Given the description of an element on the screen output the (x, y) to click on. 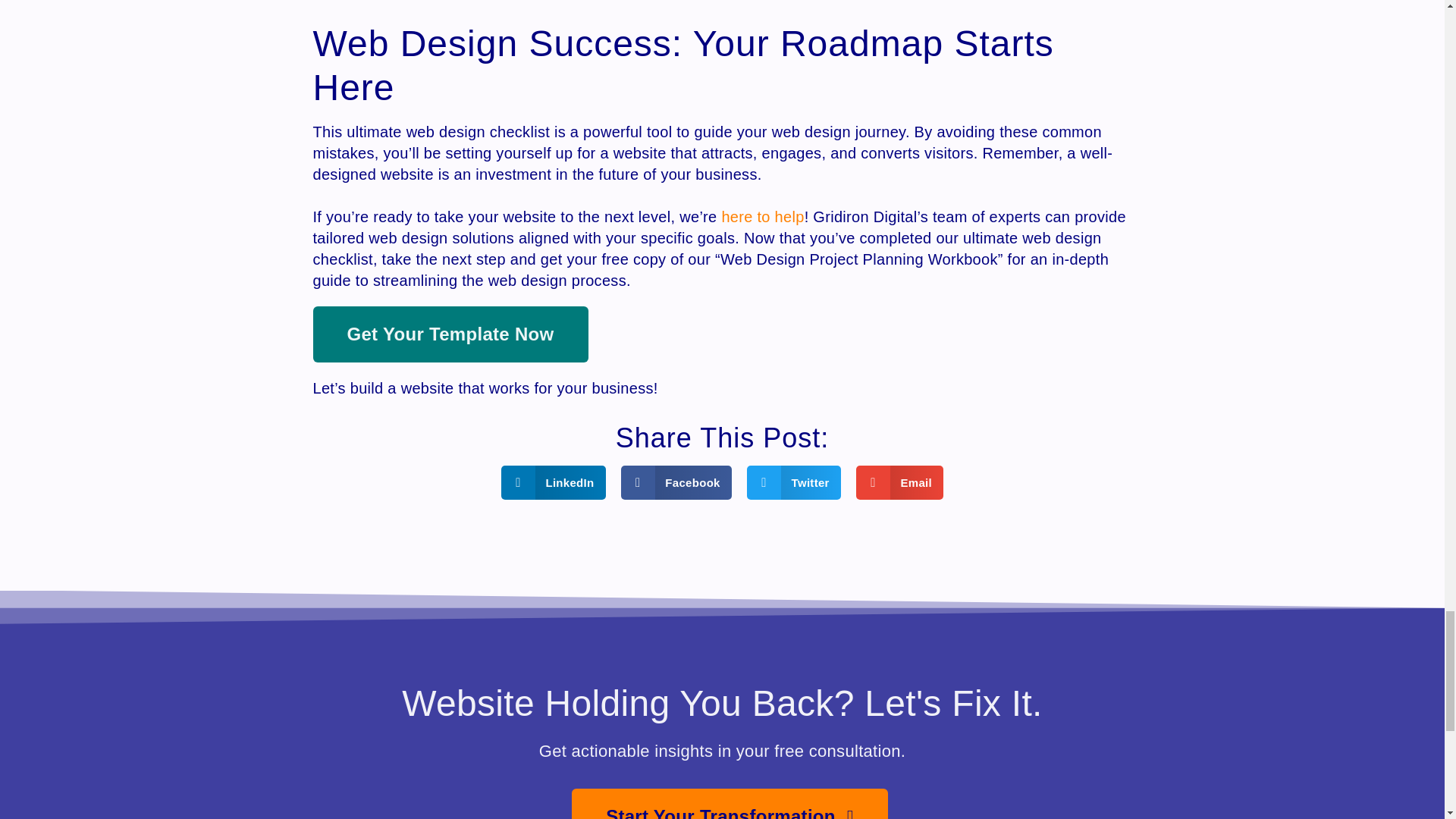
here to help (761, 216)
Get Your Template Now (450, 334)
Start Your Transformation (730, 803)
